Given the description of an element on the screen output the (x, y) to click on. 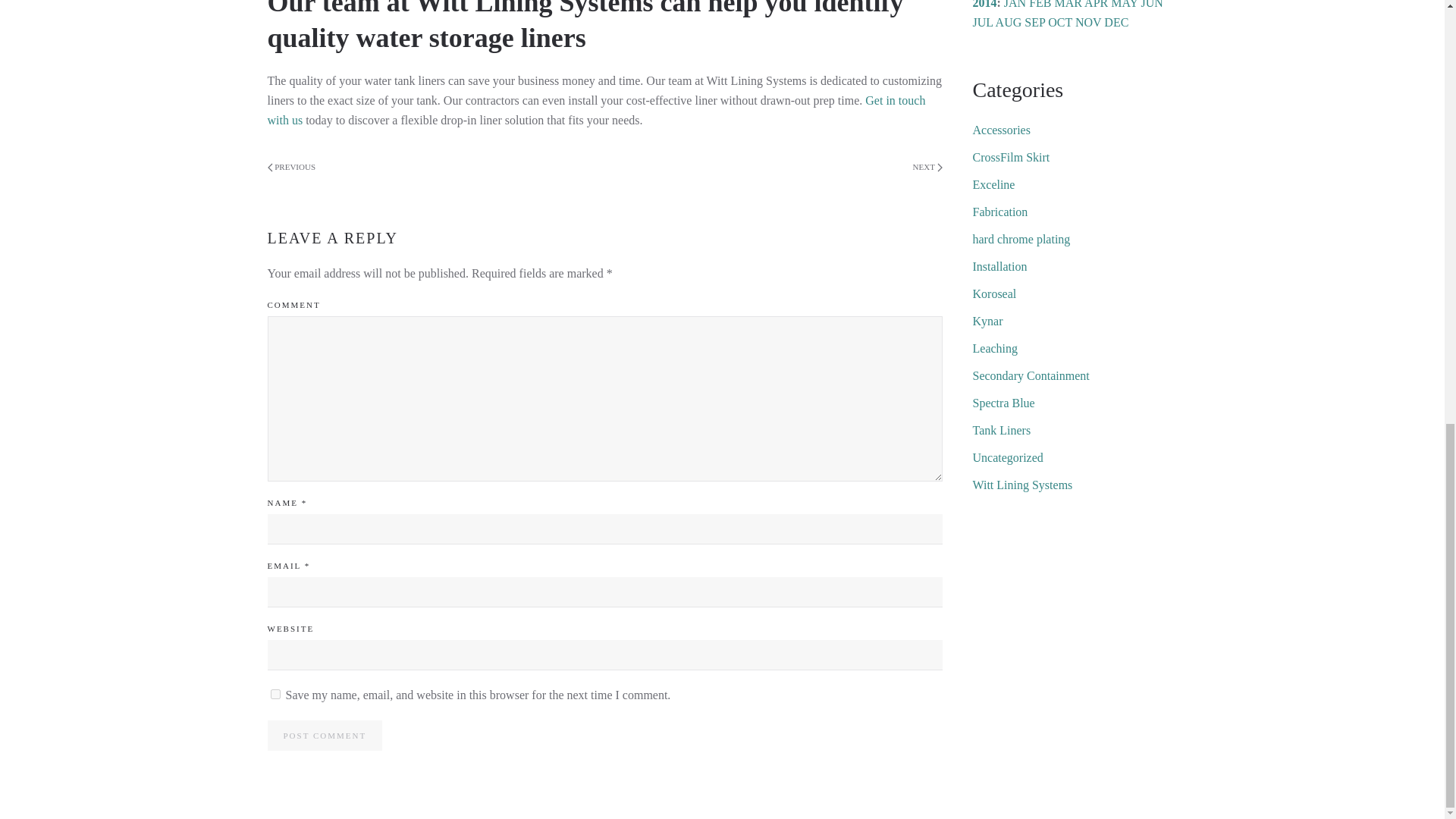
Get in touch with us (595, 110)
POST COMMENT (323, 735)
yes (274, 694)
PREVIOUS (290, 167)
NEXT (927, 167)
